Given the description of an element on the screen output the (x, y) to click on. 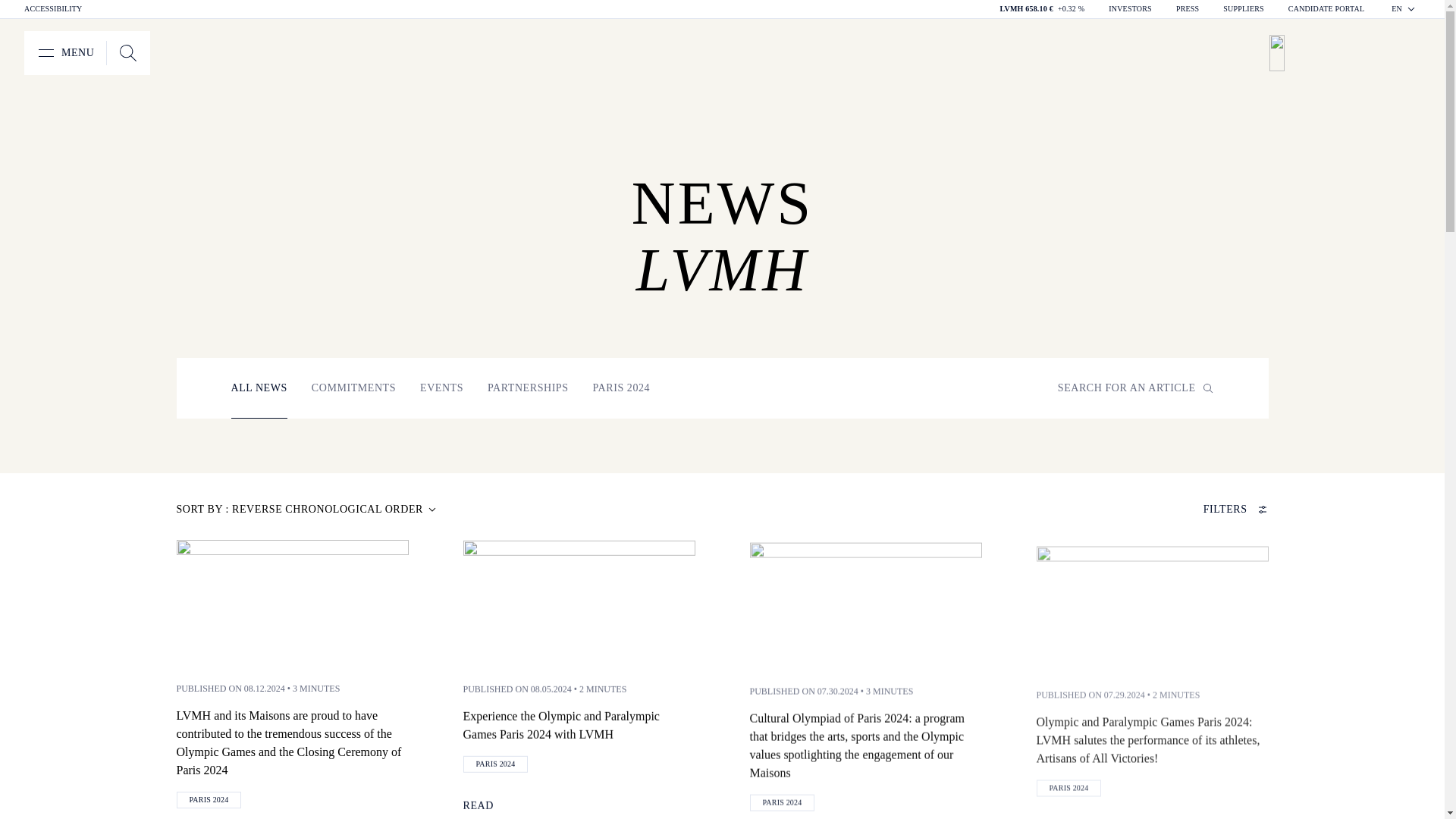
LVMH Homepage (1350, 53)
CANDIDATE PORTAL (1326, 9)
INVESTORS (1129, 9)
SUPPLIERS (1243, 9)
PRESS (1187, 9)
SEARCH (127, 53)
MENU (86, 53)
SEARCH (65, 53)
MENU (127, 53)
